Given the description of an element on the screen output the (x, y) to click on. 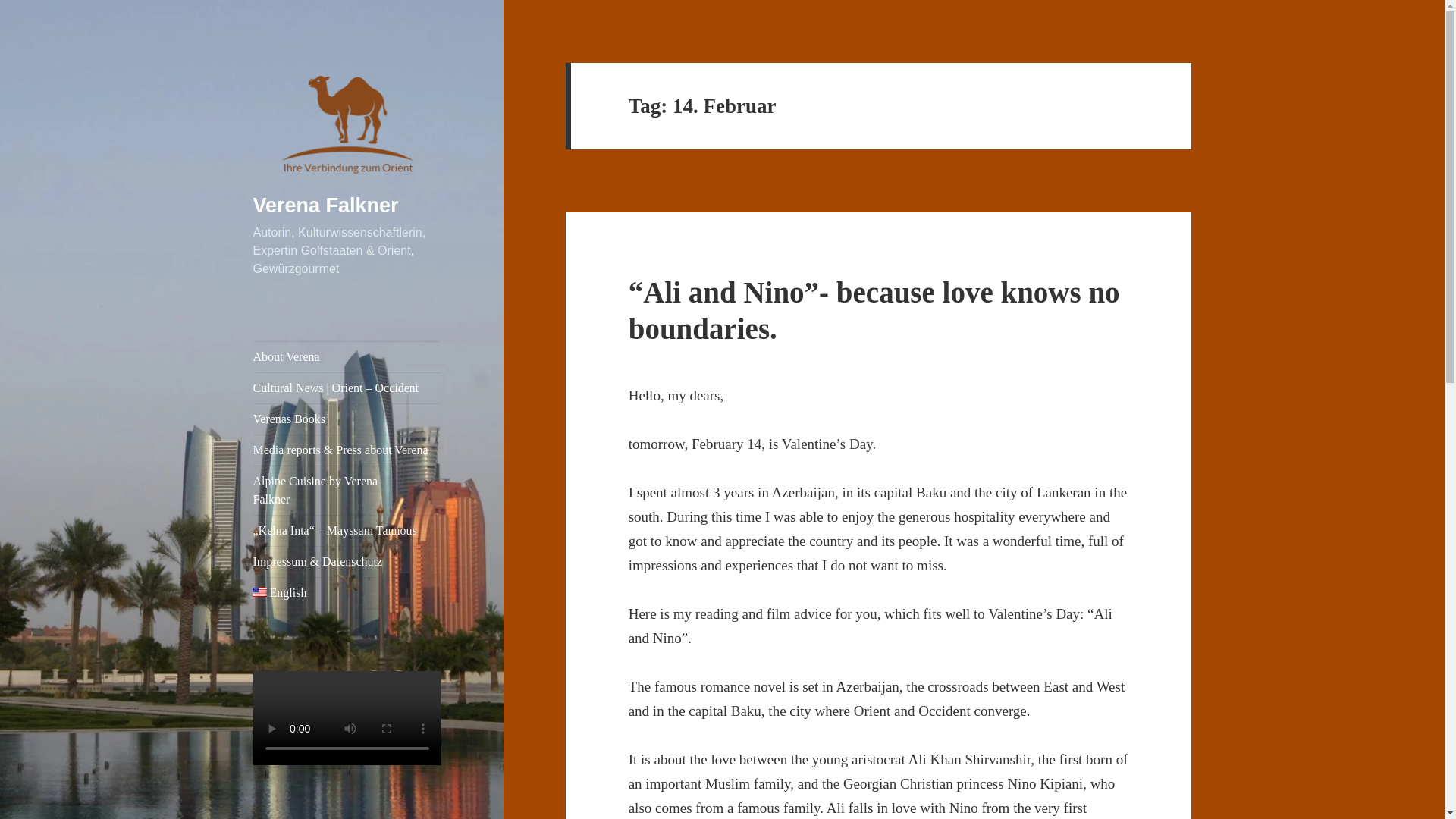
About Verena (347, 357)
English (347, 593)
Verena Falkner (325, 205)
Cultural News (347, 388)
Alpine Cuisine by Verena Falkner (347, 490)
Verenas Books (347, 419)
expand child menu (428, 481)
